Given the description of an element on the screen output the (x, y) to click on. 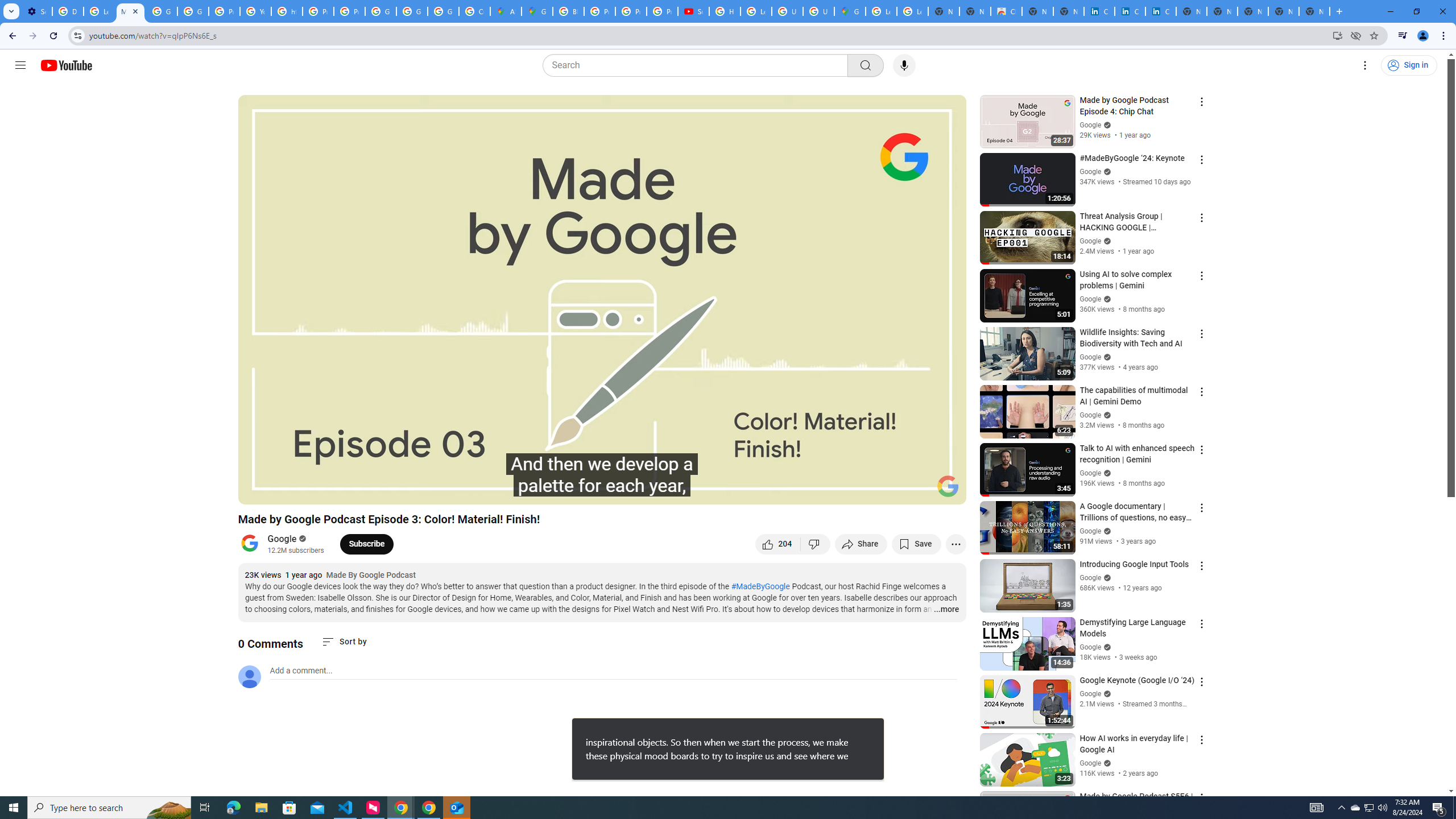
Privacy Help Center - Policies Help (318, 11)
Save to playlist (915, 543)
Seek slider (601, 476)
Google Maps (536, 11)
How Chrome protects your passwords - Google Chrome Help (724, 11)
Theater mode (t) (917, 490)
